Given the description of an element on the screen output the (x, y) to click on. 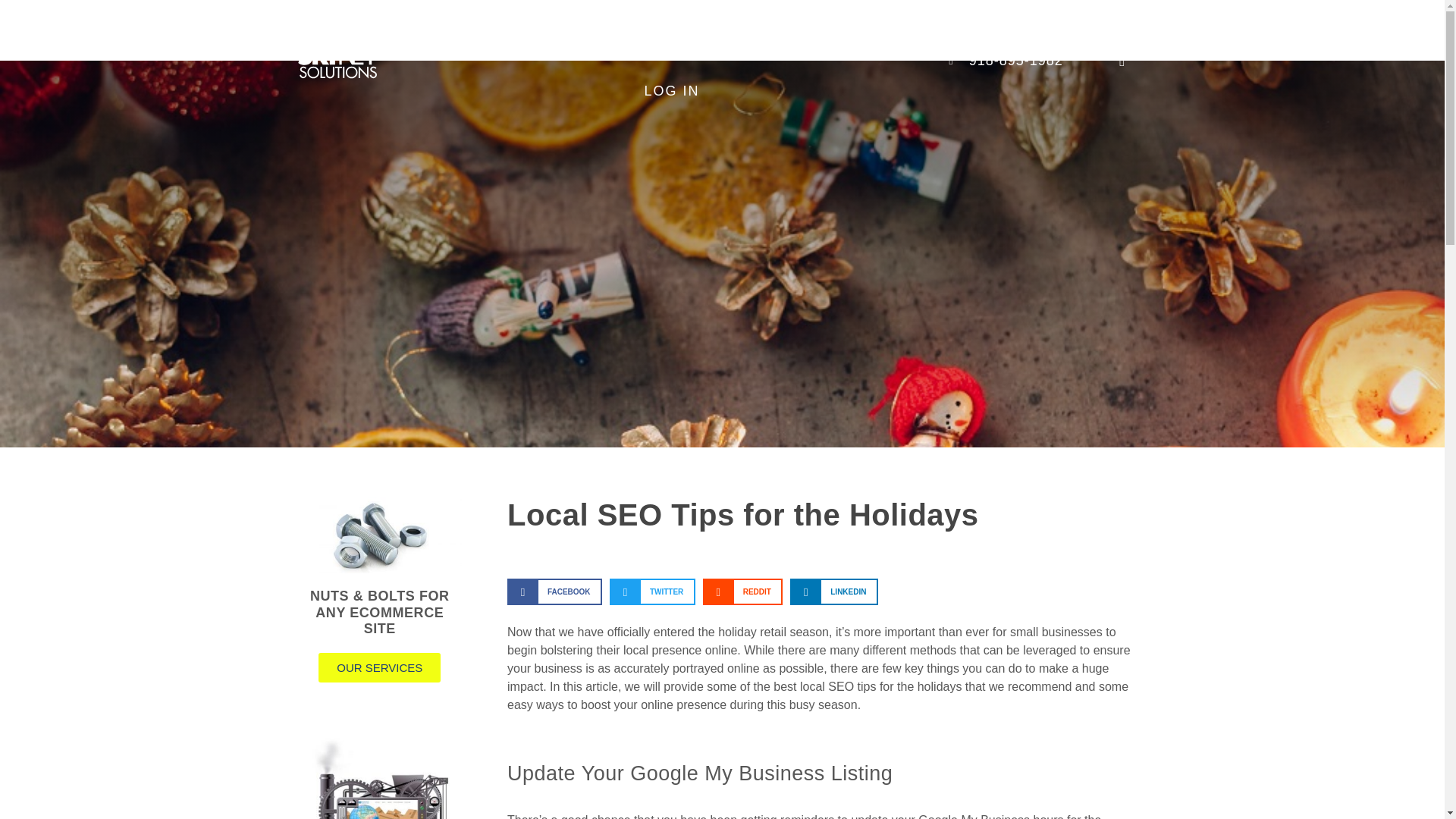
Account Access (671, 90)
ecommerce web sevices that we offer (515, 30)
See examples of our work (662, 30)
EXAMPLES (662, 30)
SERVICES (515, 30)
CONTACT (804, 30)
918-895-1982 (1003, 60)
Contact us today (804, 30)
LOG IN (671, 90)
